Given the description of an element on the screen output the (x, y) to click on. 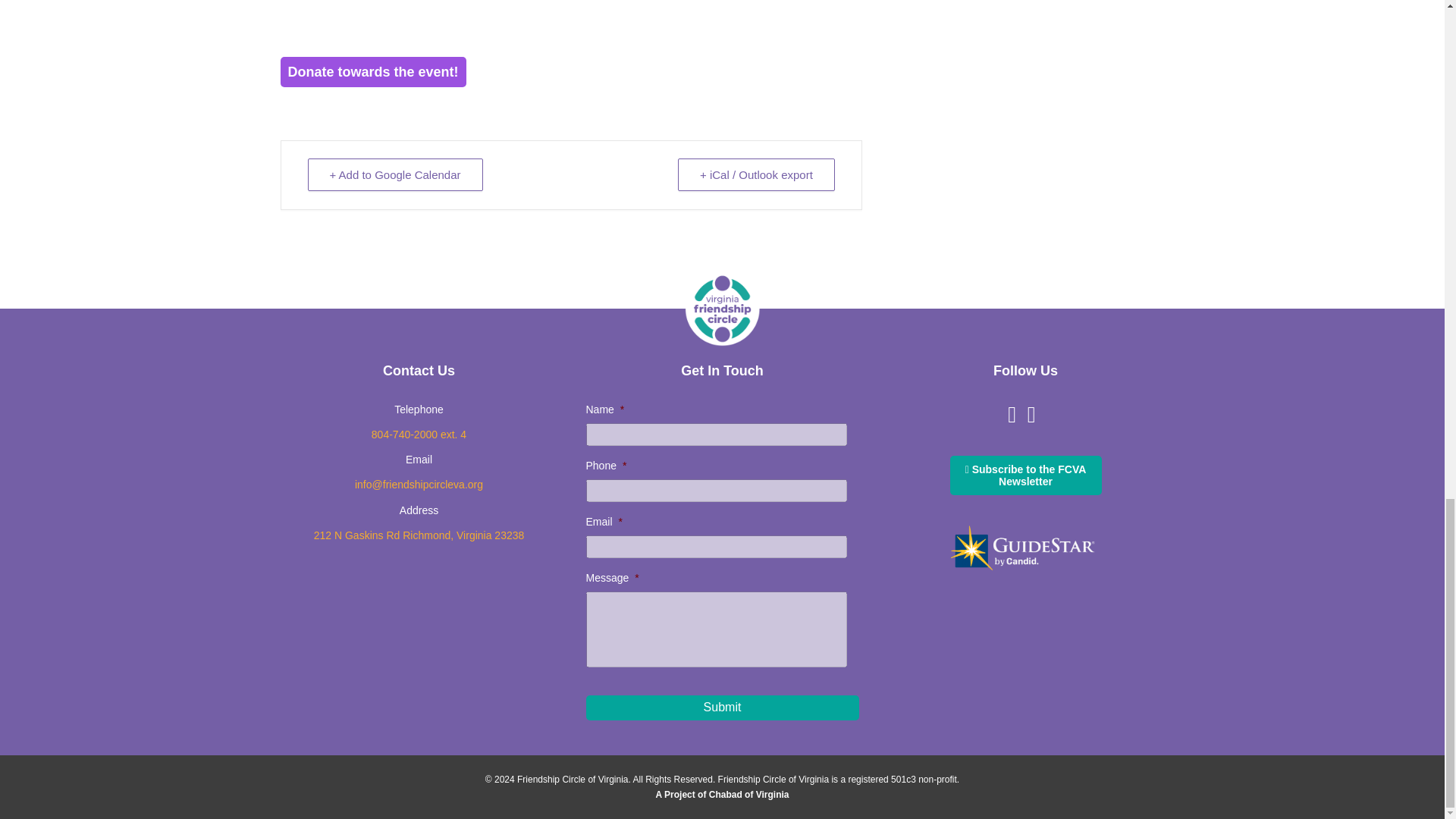
Submit (722, 707)
Donate towards the event! (373, 71)
